Given the description of an element on the screen output the (x, y) to click on. 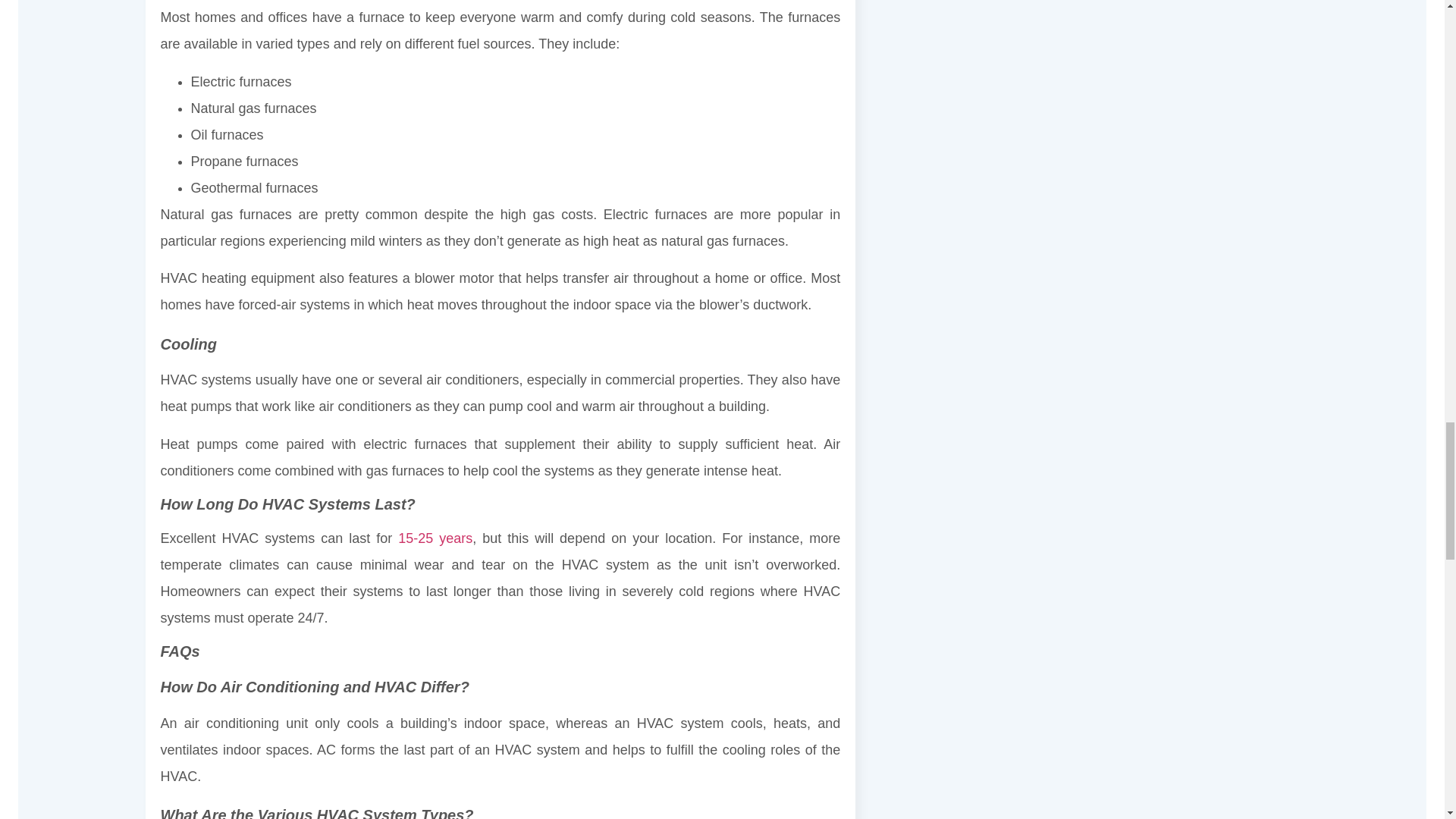
15-25 years (431, 538)
